Given the description of an element on the screen output the (x, y) to click on. 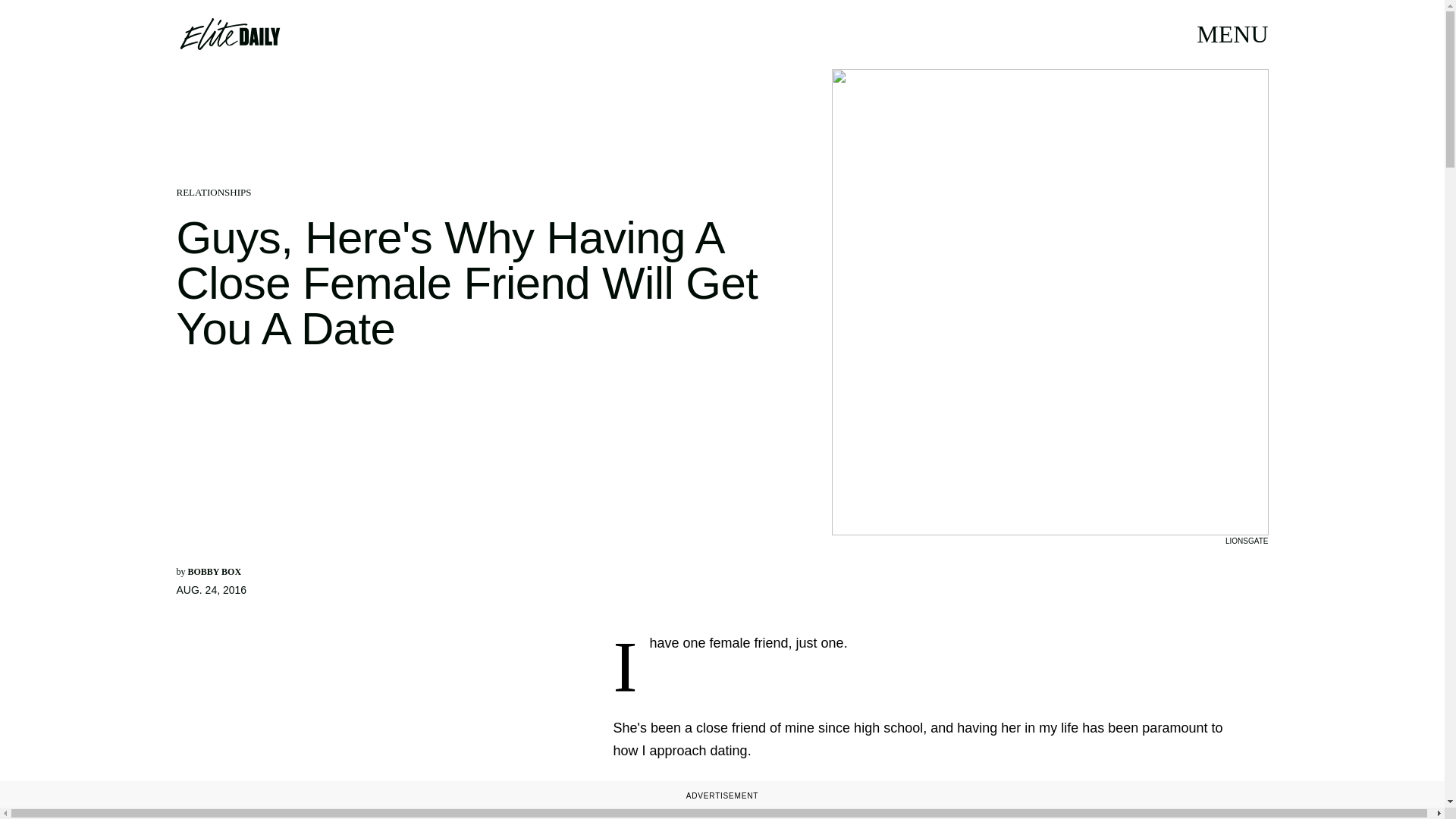
Elite Daily (229, 33)
